Given the description of an element on the screen output the (x, y) to click on. 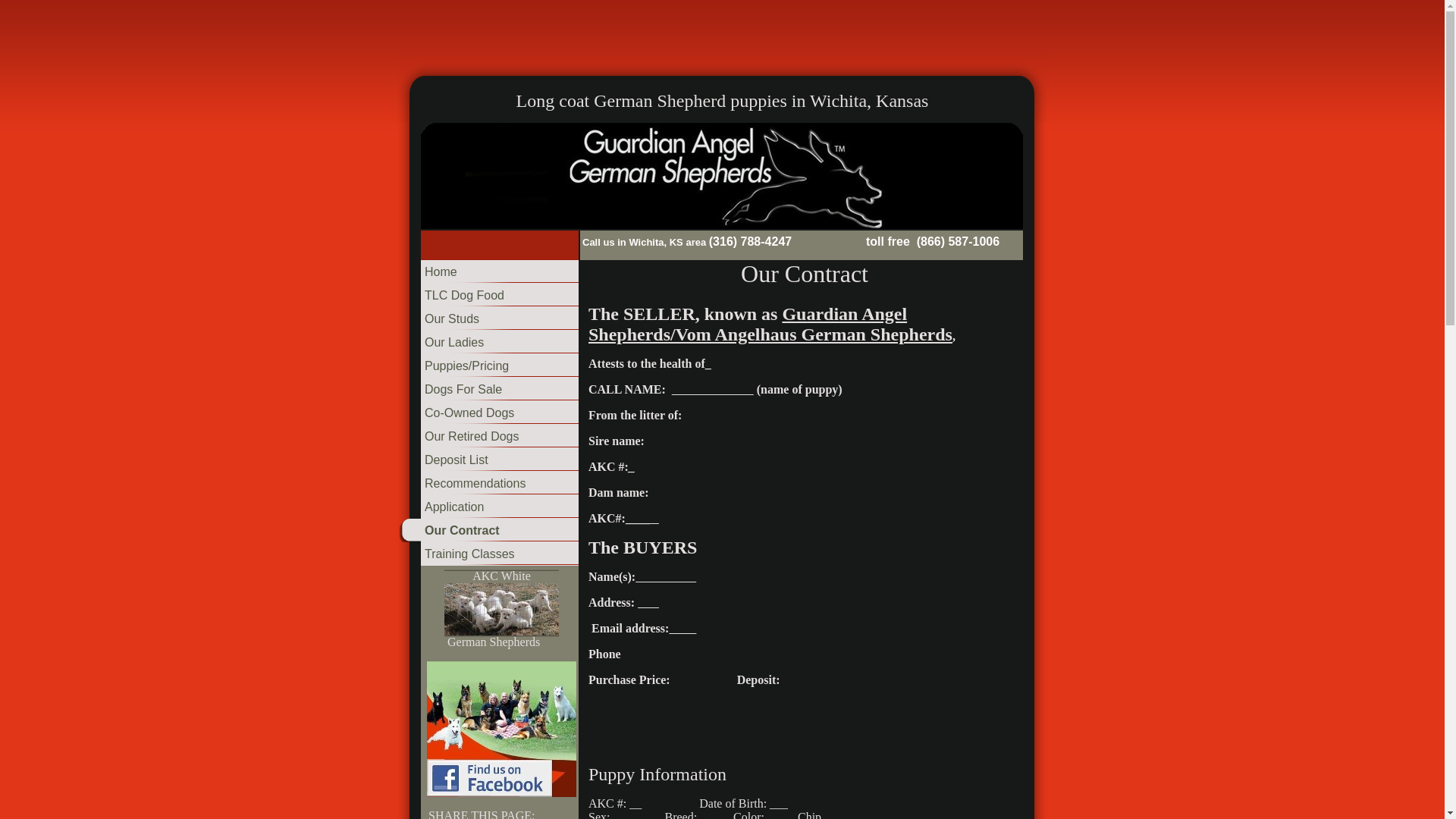
Our Retired Dogs (487, 437)
Application (487, 507)
Our Studs (487, 320)
TLC Dog Food (487, 296)
Our Ladies (487, 343)
Skype actions (1024, 241)
Recommendations (487, 484)
Deposit List (487, 461)
German Shepherd Puppies (501, 609)
Training Classes (487, 555)
Co-Owned Dogs (487, 413)
Dogs For Sale (487, 390)
Home (487, 272)
Our Contract (487, 531)
